Given the description of an element on the screen output the (x, y) to click on. 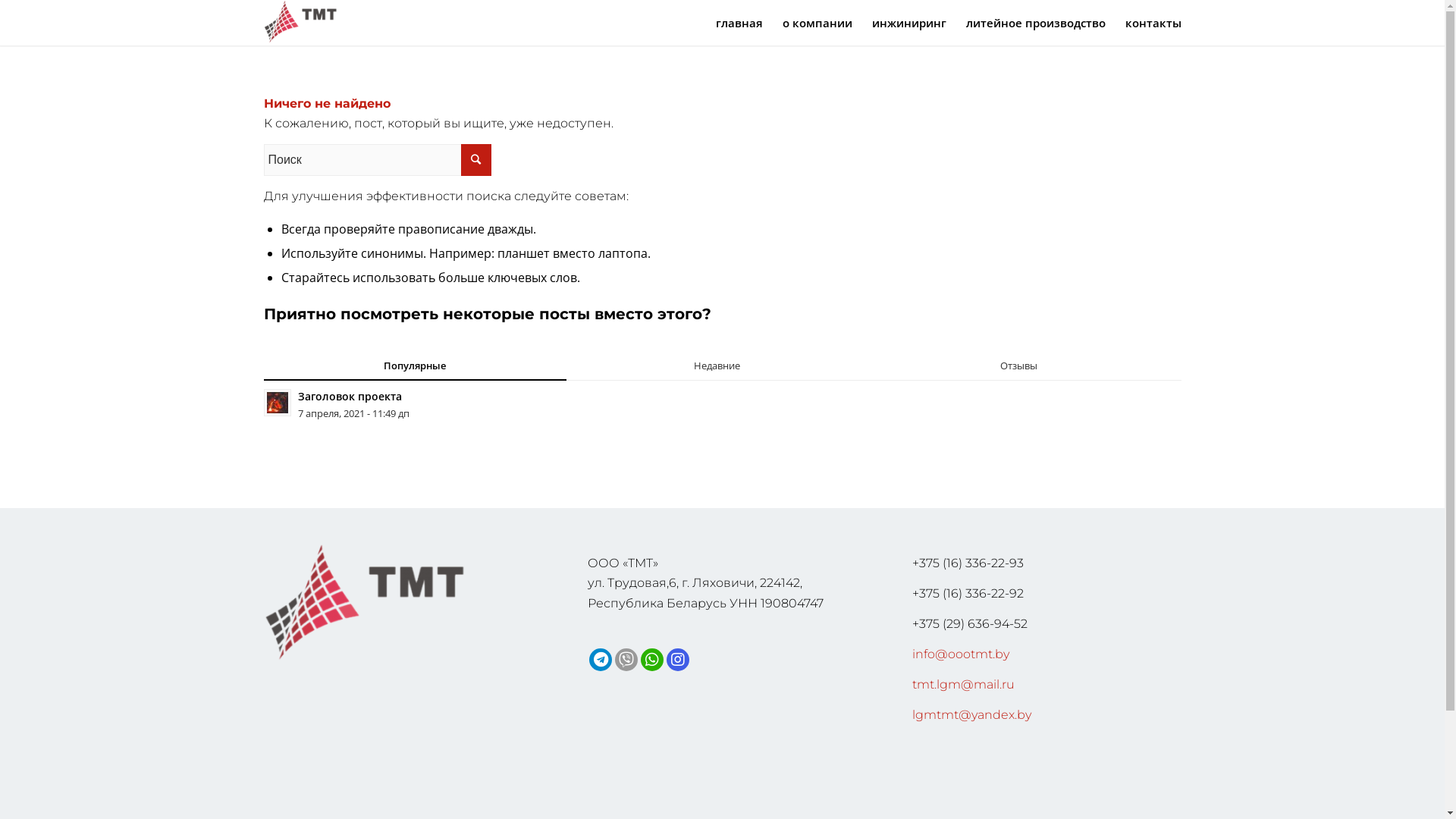
lgmtmt@yandex.by Element type: text (971, 714)
Telegram Element type: hover (600, 659)
tmt.lgm@mail.ru Element type: text (963, 684)
Viber Element type: hover (626, 659)
whatsapp Element type: hover (651, 659)
Instagram Element type: hover (677, 659)
Telegram Element type: hover (600, 659)
info@oootmt.by Element type: text (960, 653)
whatsapp Element type: hover (651, 659)
Viber Element type: hover (625, 659)
Instagram Element type: hover (677, 659)
